Given the description of an element on the screen output the (x, y) to click on. 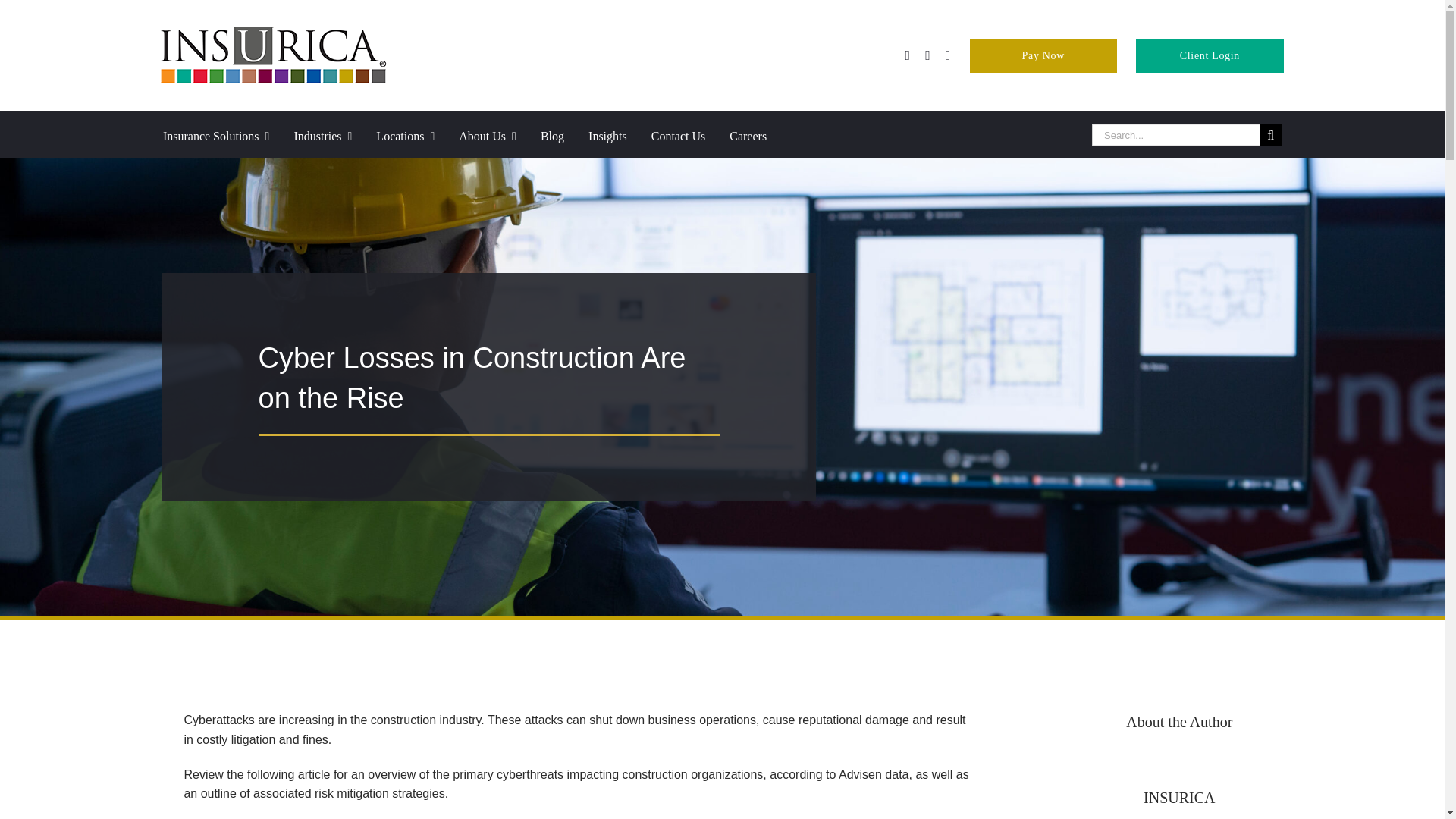
Pay Now (1042, 54)
Industries (334, 134)
Client Login (1208, 54)
Pay Now (1042, 54)
Client Login (1208, 54)
Insurance Solutions (228, 134)
